Given the description of an element on the screen output the (x, y) to click on. 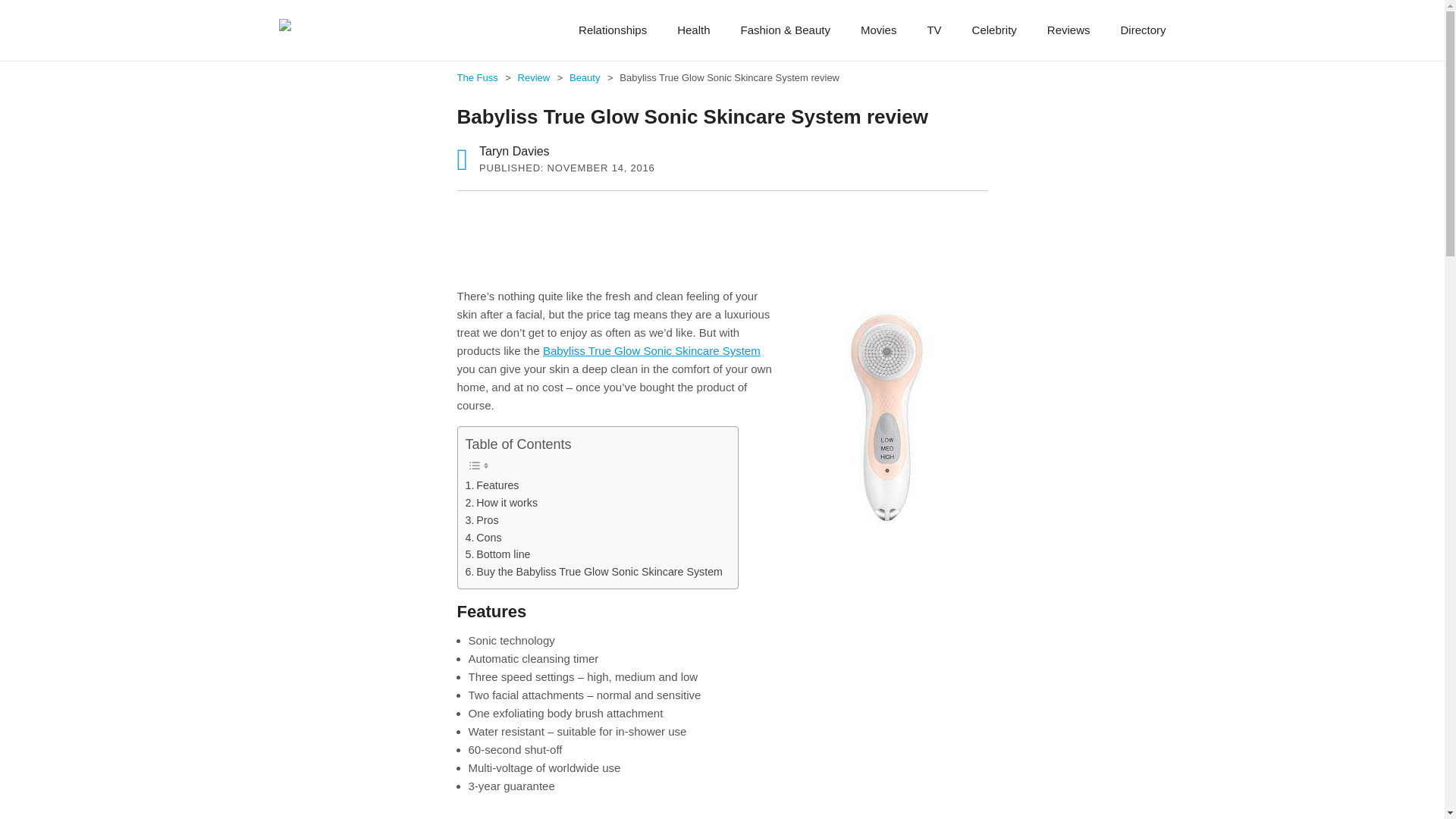
Health (693, 30)
Reviews (1068, 30)
Go to the Review Category archives. (535, 77)
Cons (483, 538)
Go to the Beauty Category archives. (585, 77)
Go to The Fuss. (478, 77)
Buy the Babyliss True Glow Sonic Skincare System (593, 571)
Bottom line (498, 554)
How it works (501, 502)
Pros (482, 520)
